Given the description of an element on the screen output the (x, y) to click on. 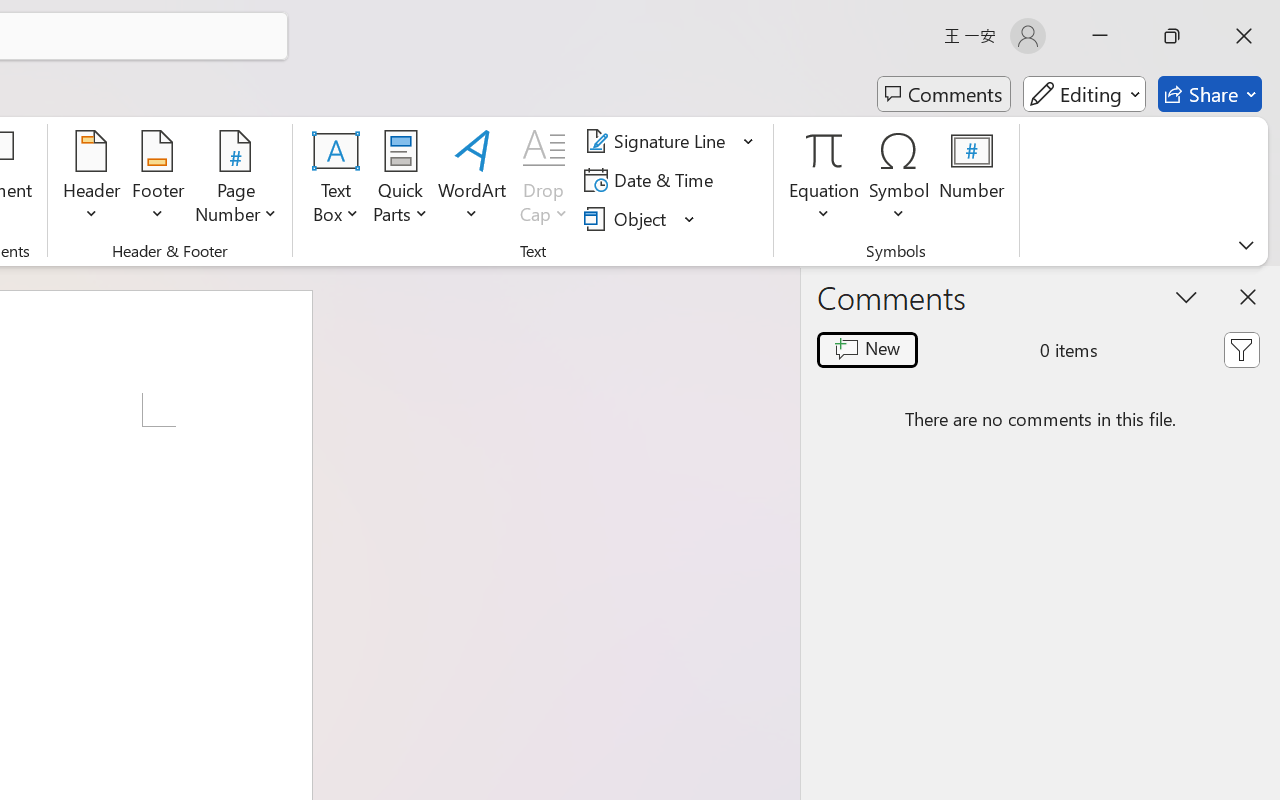
Filter (1241, 350)
Object... (628, 218)
New comment (866, 350)
Number... (971, 179)
Equation (823, 150)
Drop Cap (543, 179)
Equation (823, 179)
Quick Parts (400, 179)
